Given the description of an element on the screen output the (x, y) to click on. 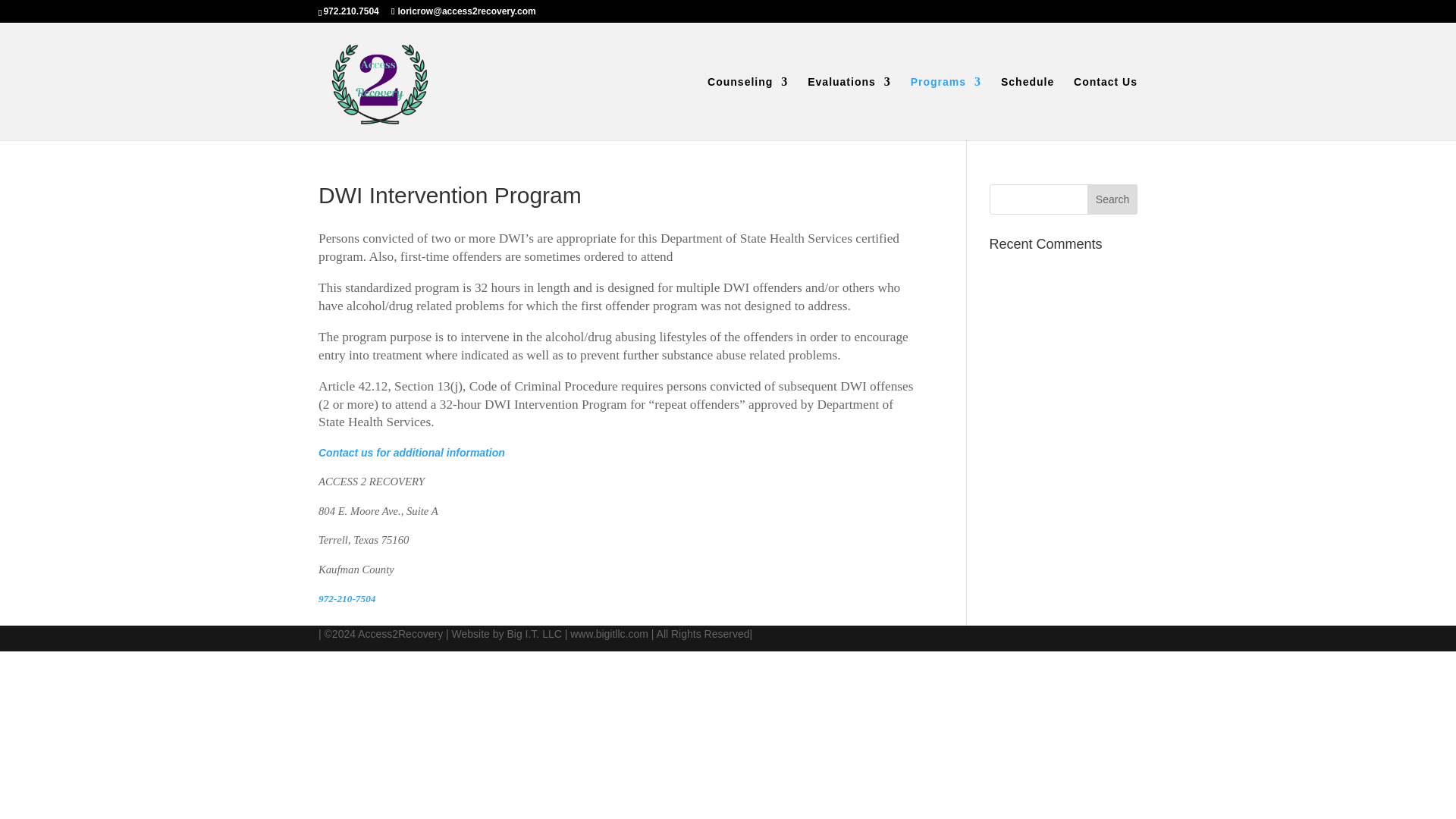
972-210-7504 (346, 598)
Programs (946, 108)
Contact us for additional information (411, 452)
Contact Us (1105, 108)
Evaluations (849, 108)
Search (1112, 199)
Search (1112, 199)
Counseling (747, 108)
